Given the description of an element on the screen output the (x, y) to click on. 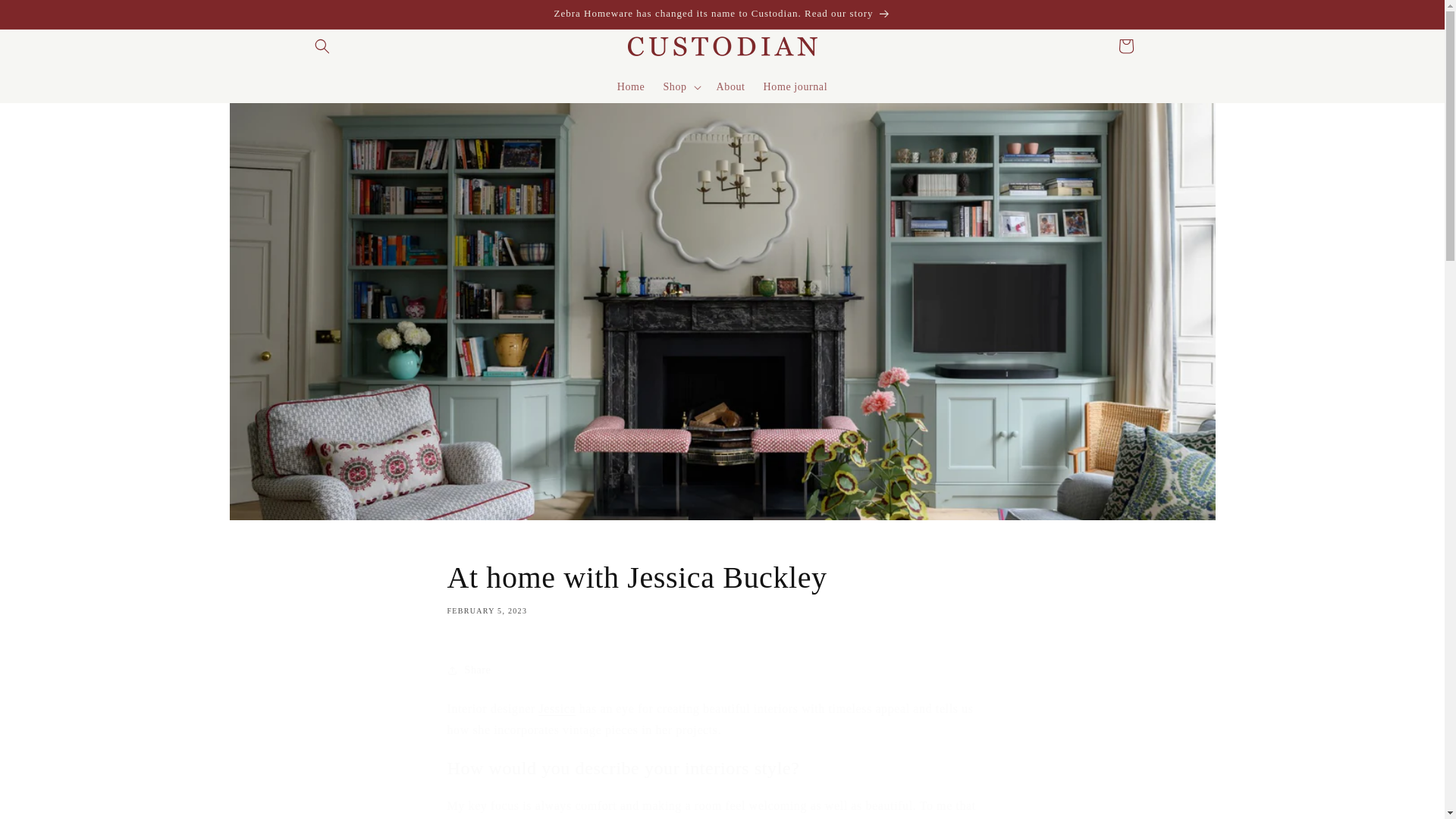
About (730, 87)
Cart (1124, 46)
Home (630, 87)
Home journal (795, 87)
Share (721, 670)
Skip to content (721, 586)
